Given the description of an element on the screen output the (x, y) to click on. 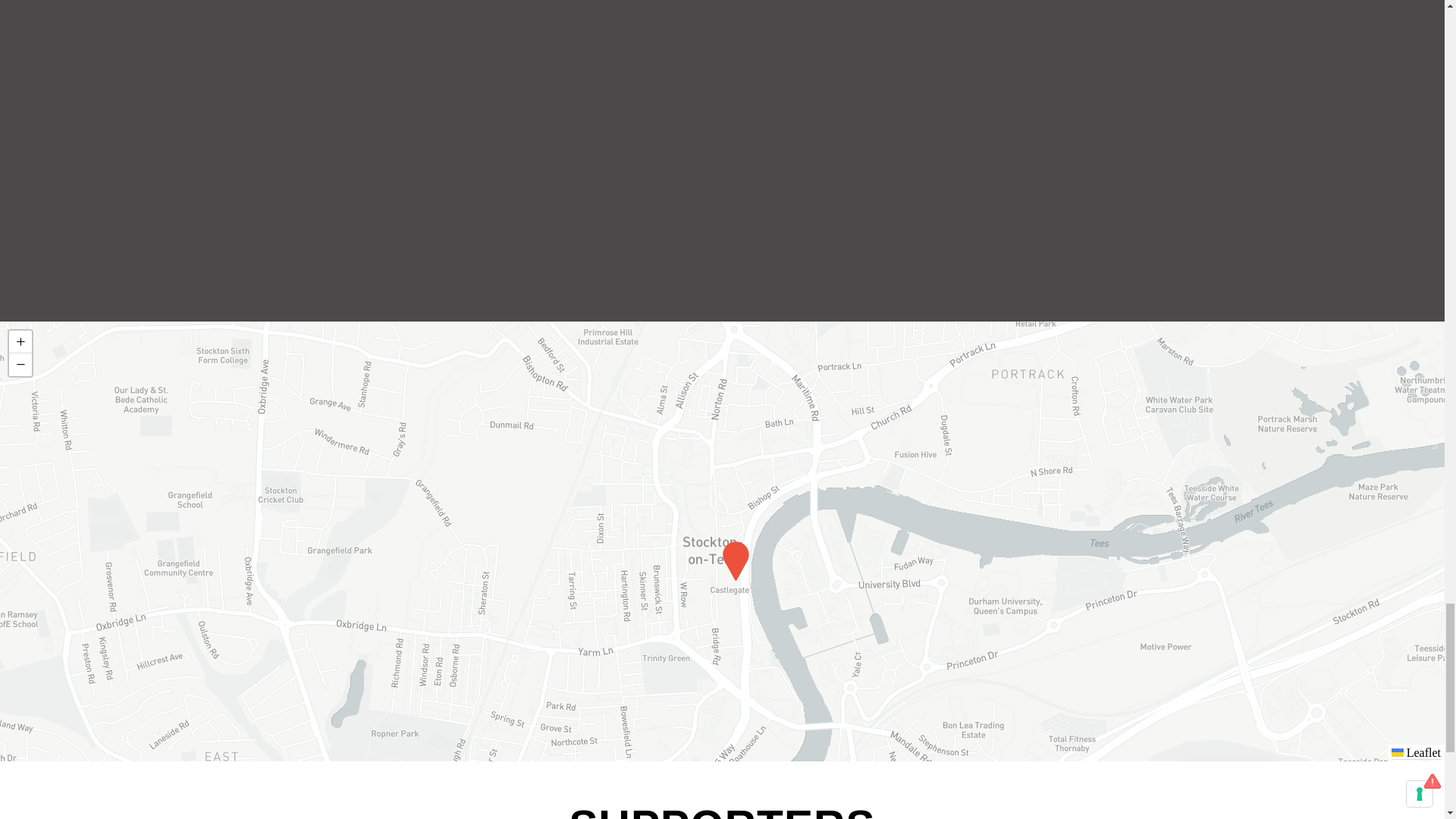
Leaflet (1416, 753)
A JavaScript library for interactive maps (1416, 753)
Zoom out (20, 363)
Zoom in (20, 341)
